Given the description of an element on the screen output the (x, y) to click on. 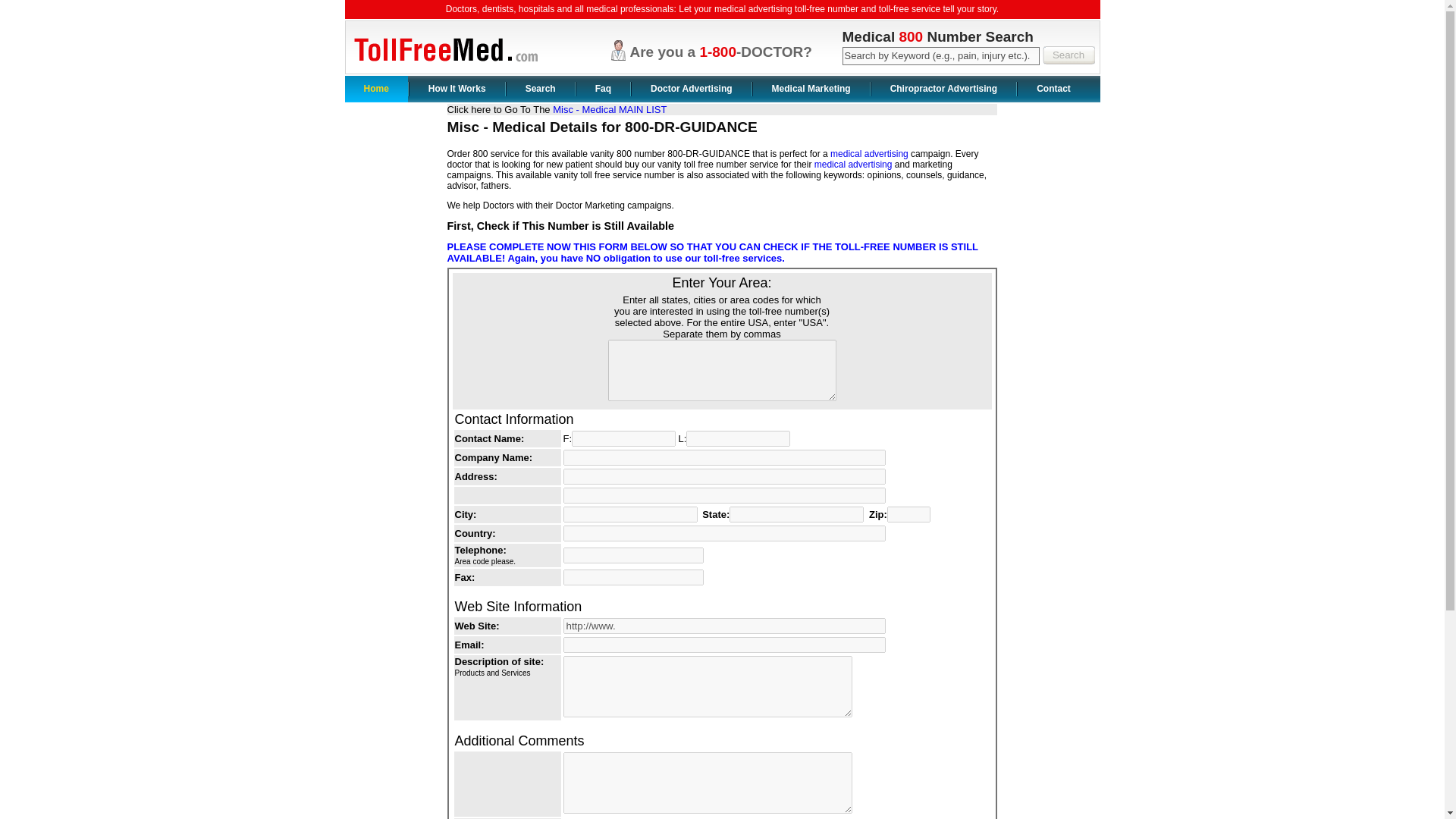
medical advertising (868, 153)
Misc - Medical MAIN LIST (609, 109)
Faq (603, 89)
Home (375, 89)
Chiropractor Advertising (943, 89)
Search (1068, 54)
Doctor Advertising (691, 89)
Search (1068, 54)
Contact (1053, 89)
Search (1068, 54)
